Given the description of an element on the screen output the (x, y) to click on. 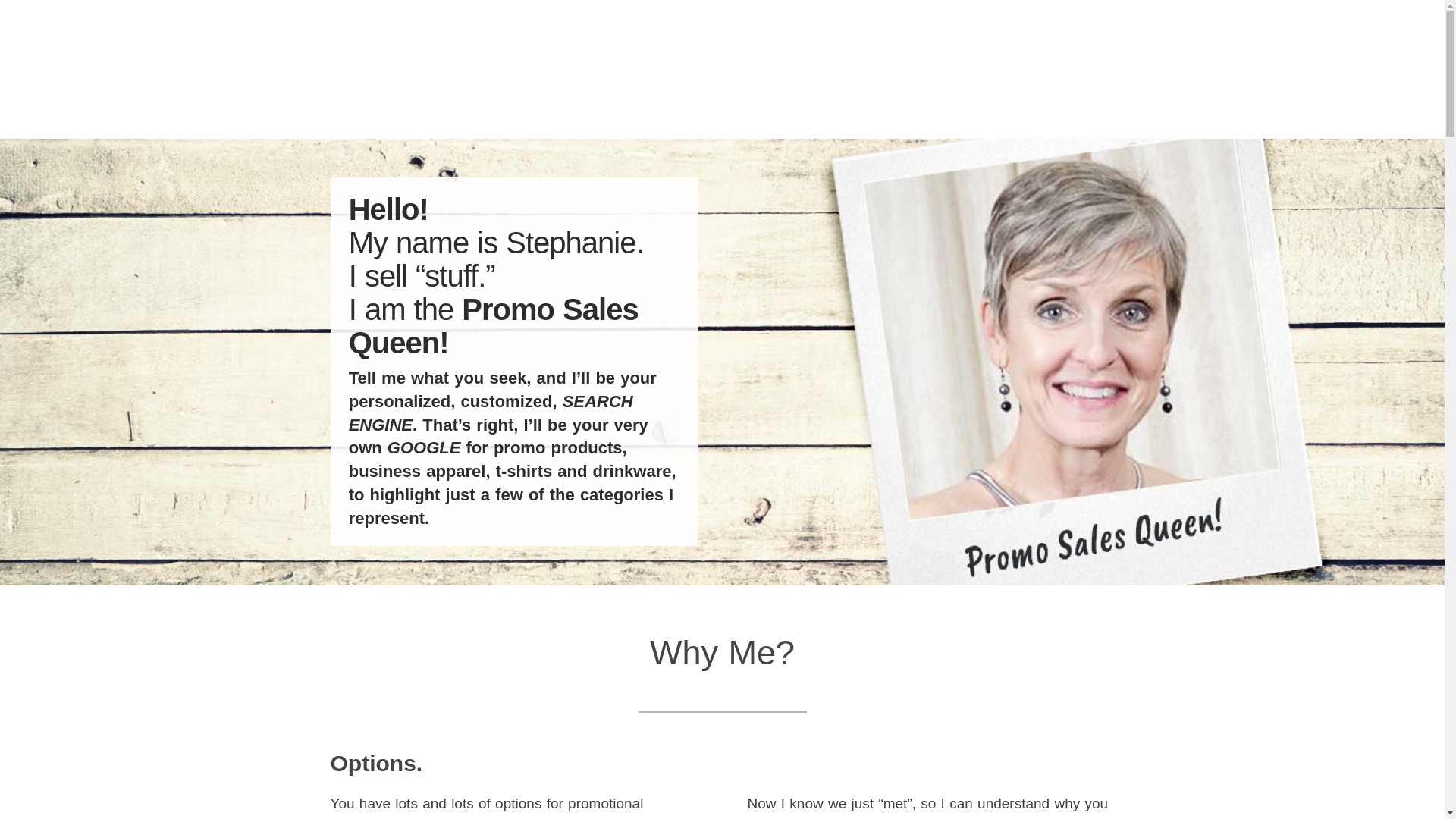
PromoSalesQueen.com (446, 50)
